Given the description of an element on the screen output the (x, y) to click on. 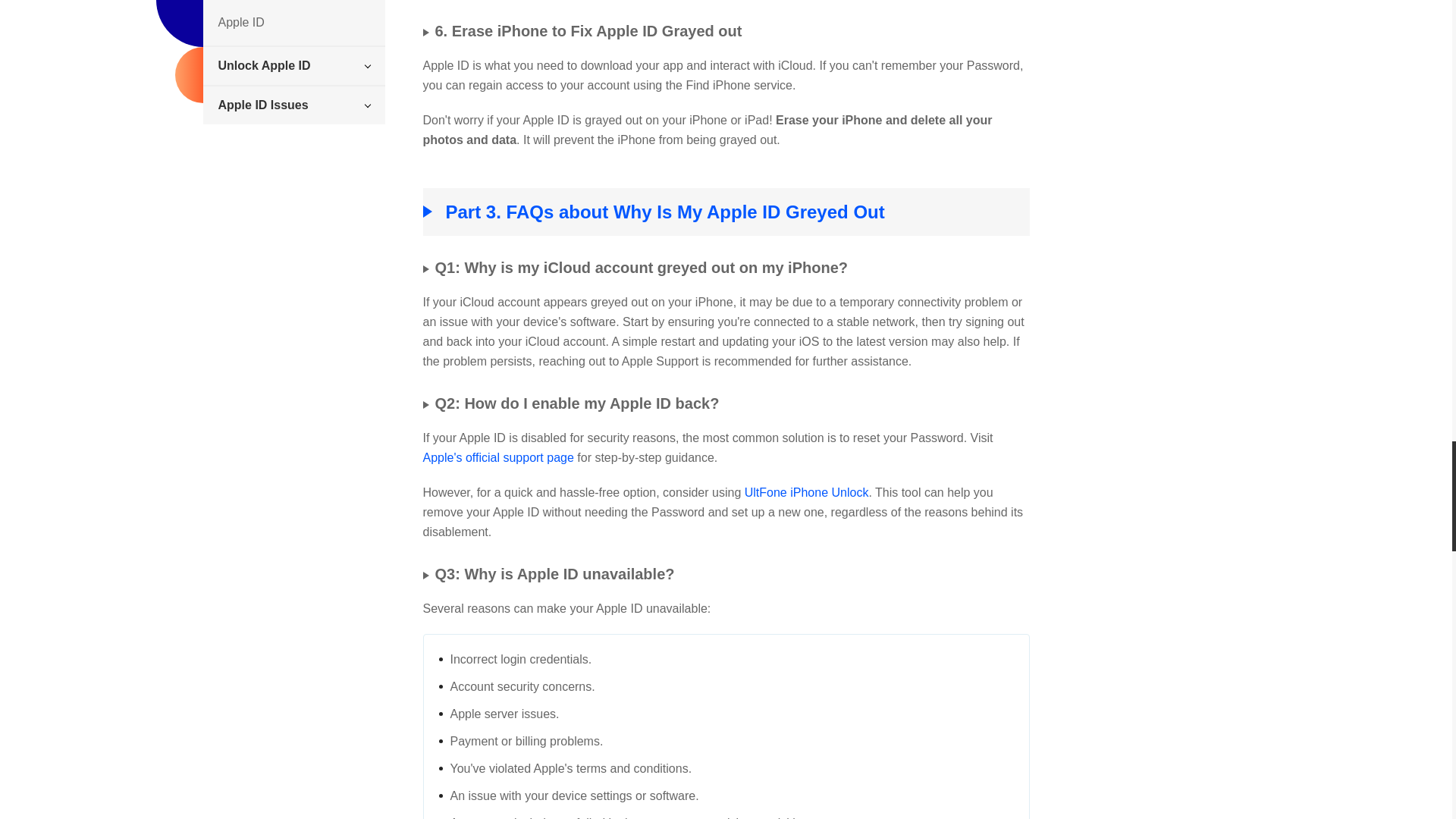
apple support (498, 457)
